Given the description of an element on the screen output the (x, y) to click on. 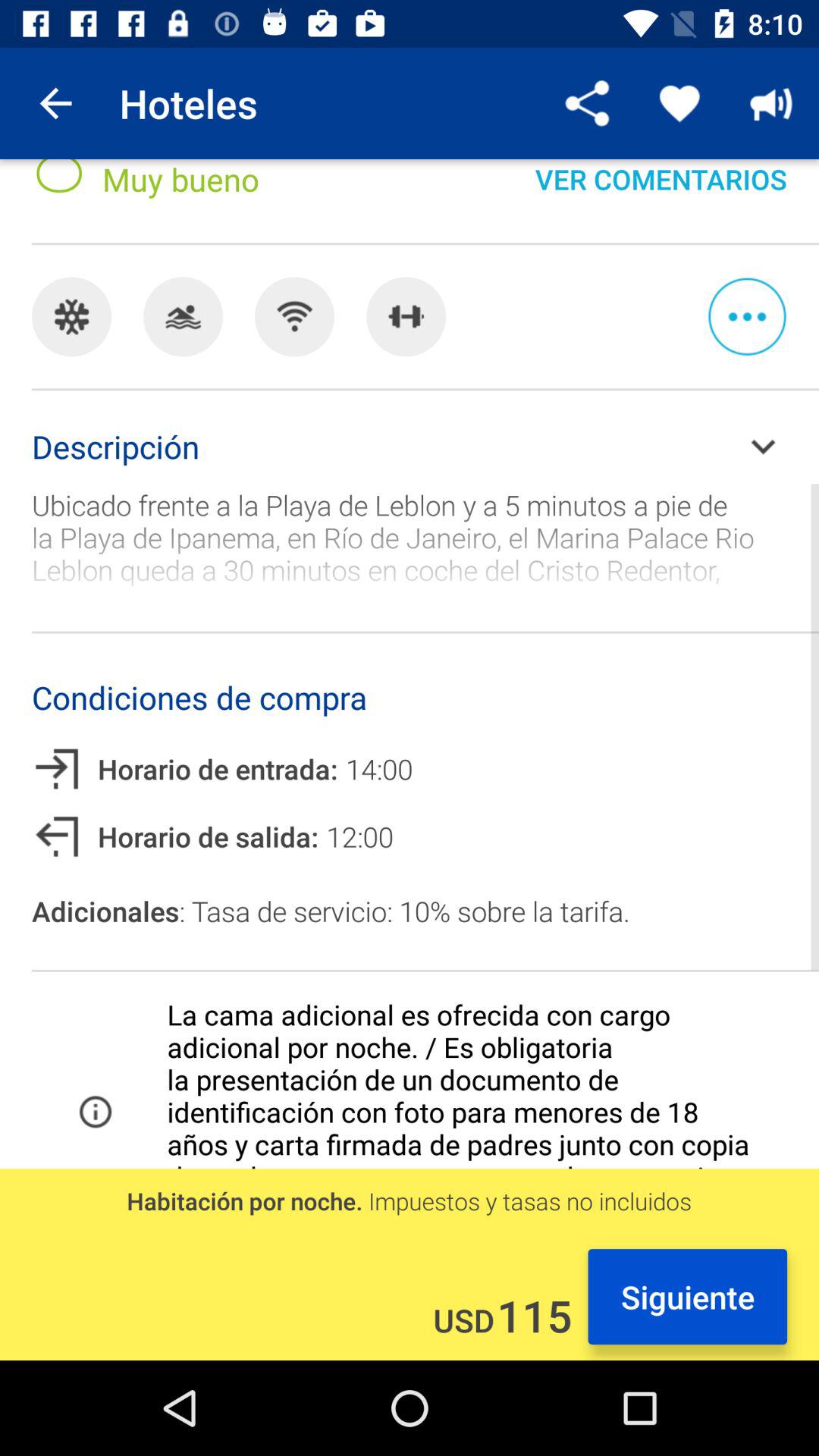
launch the icon next to hoteles icon (55, 103)
